Given the description of an element on the screen output the (x, y) to click on. 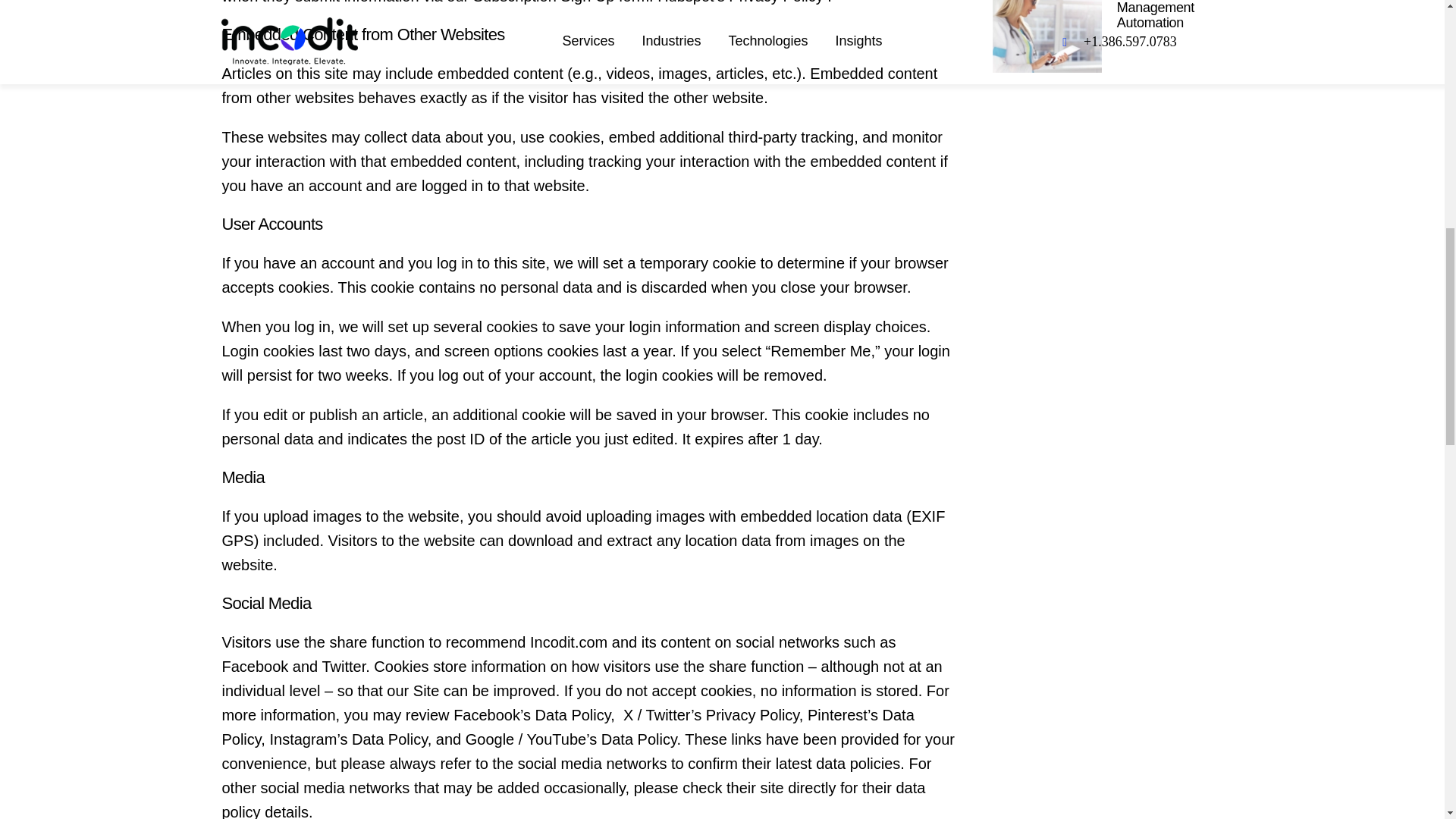
Patient Data Management Automation (1154, 15)
